Given the description of an element on the screen output the (x, y) to click on. 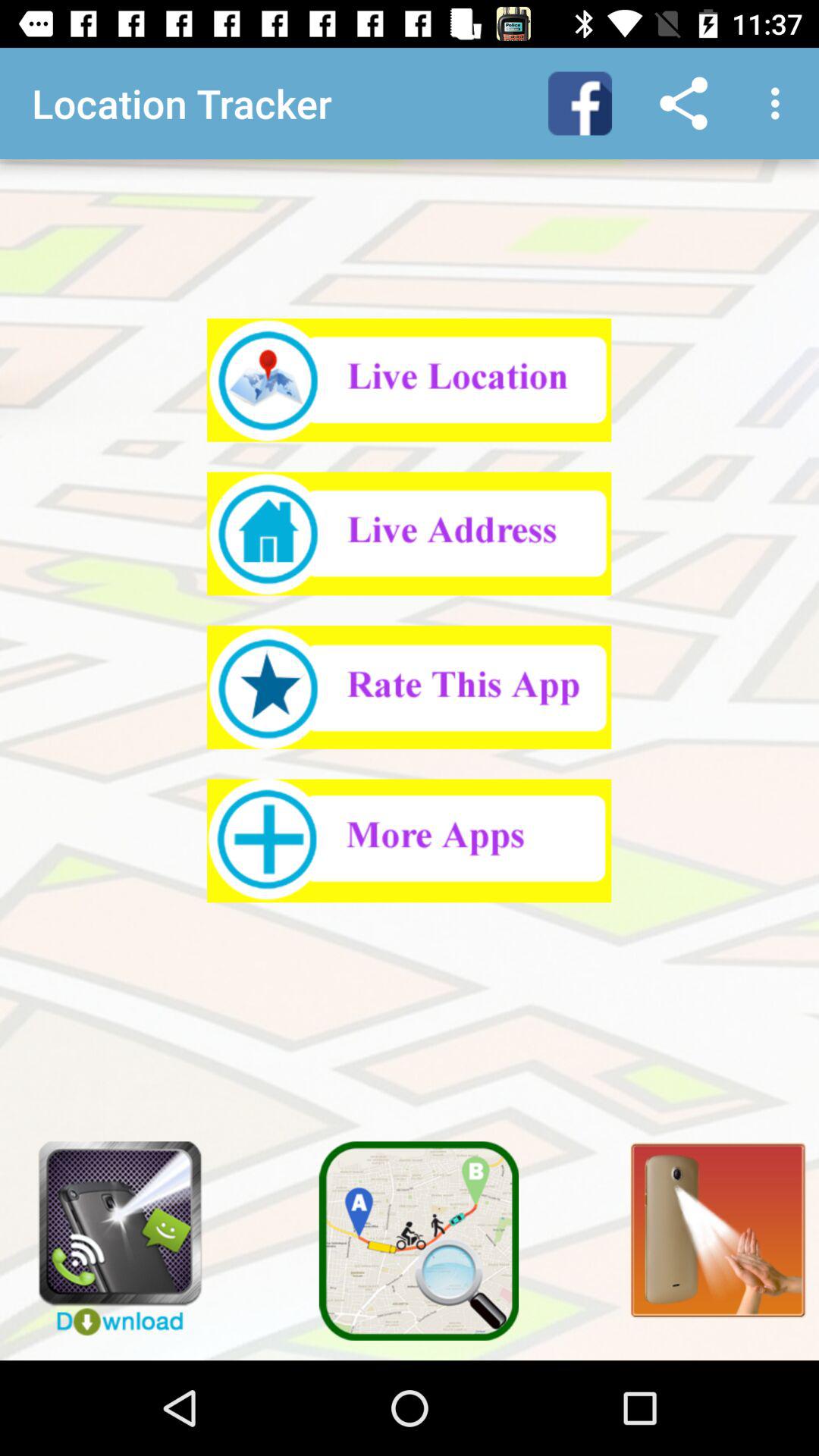
activate the flash button (708, 1220)
